Given the description of an element on the screen output the (x, y) to click on. 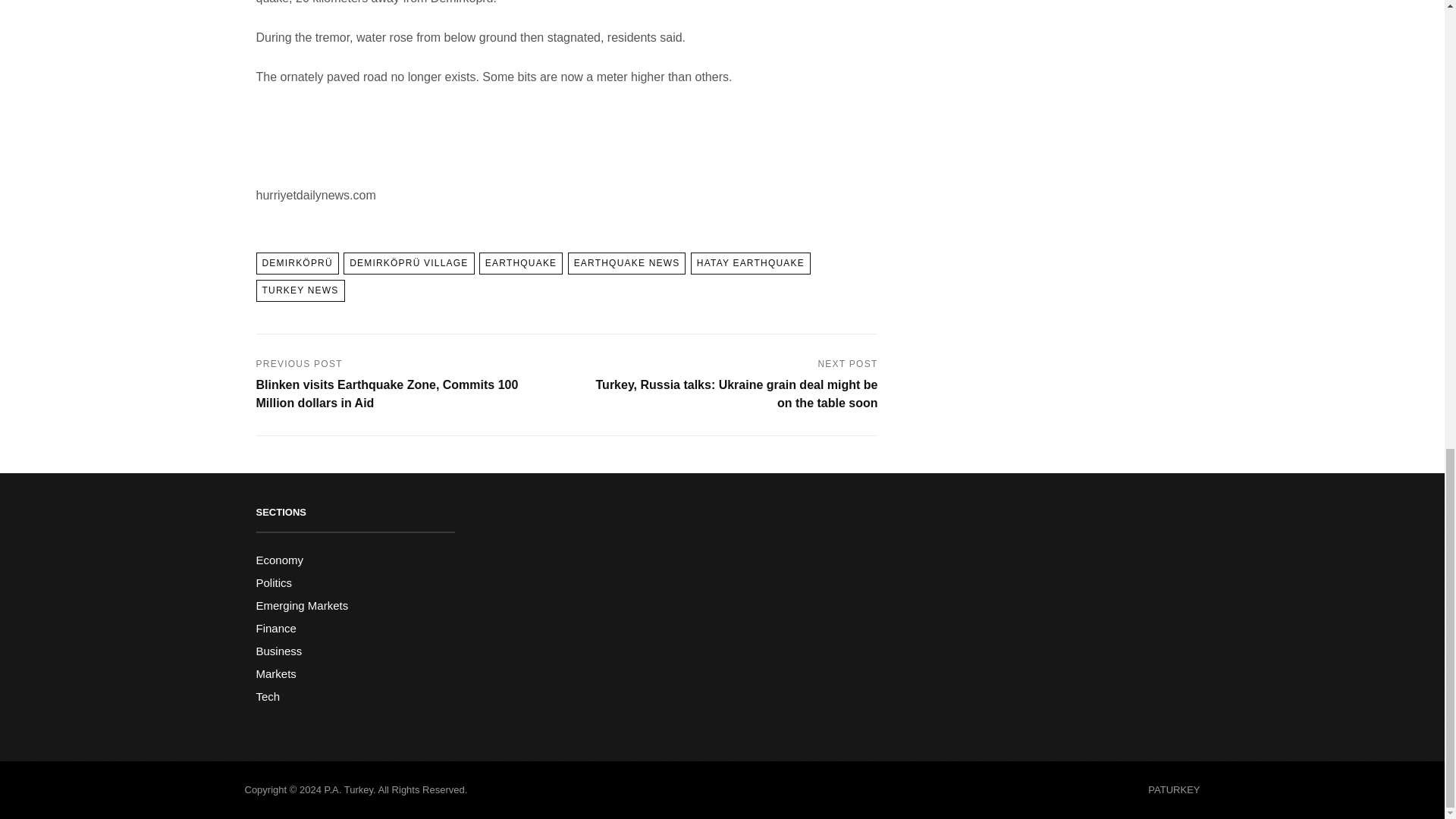
TURKEY NEWS (300, 291)
HATAY EARTHQUAKE (750, 263)
EARTHQUAKE (520, 263)
Politics (274, 582)
Business (279, 650)
Economy (280, 559)
Finance (276, 627)
EARTHQUAKE NEWS (626, 263)
Emerging Markets (302, 604)
